Given the description of an element on the screen output the (x, y) to click on. 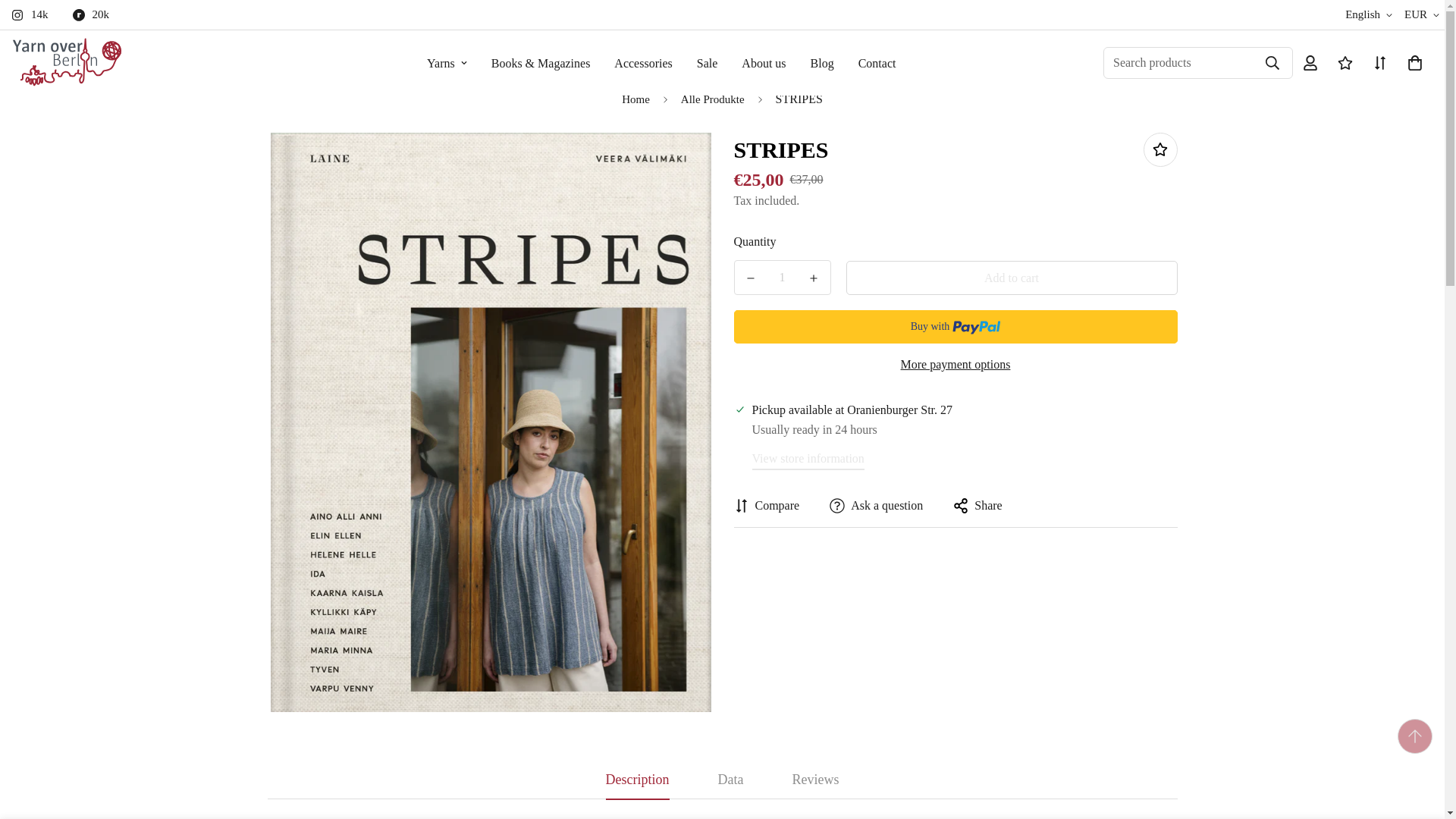
Yarnover Berlin (66, 62)
14k (35, 14)
20k (97, 14)
Back to the home page (636, 99)
